Given the description of an element on the screen output the (x, y) to click on. 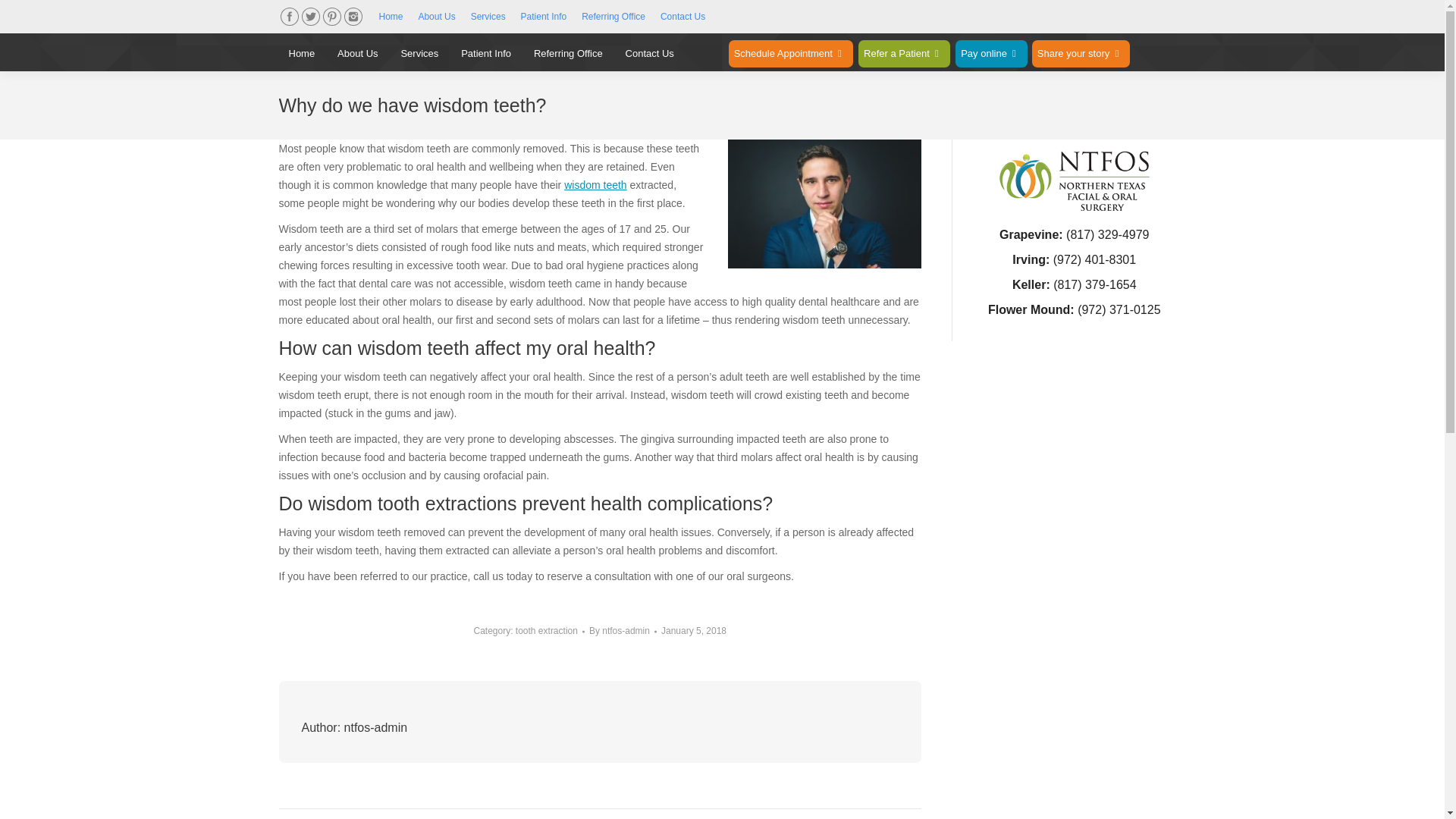
Home (390, 16)
Services (487, 16)
About Us (435, 16)
